Given the description of an element on the screen output the (x, y) to click on. 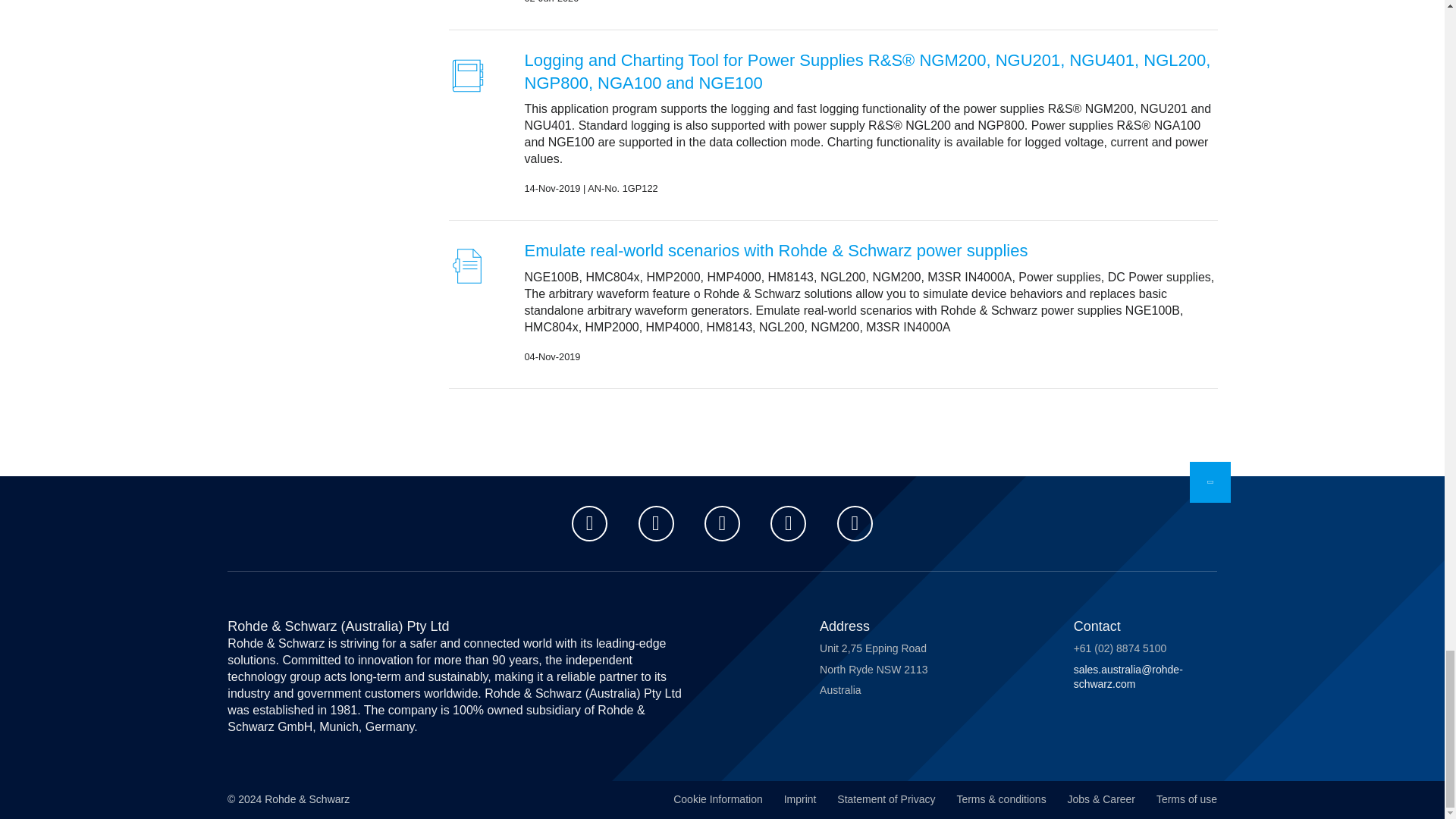
Terms of use (1186, 801)
Cookie Information (717, 801)
Imprint (800, 801)
Statement of Privacy (885, 801)
